Given the description of an element on the screen output the (x, y) to click on. 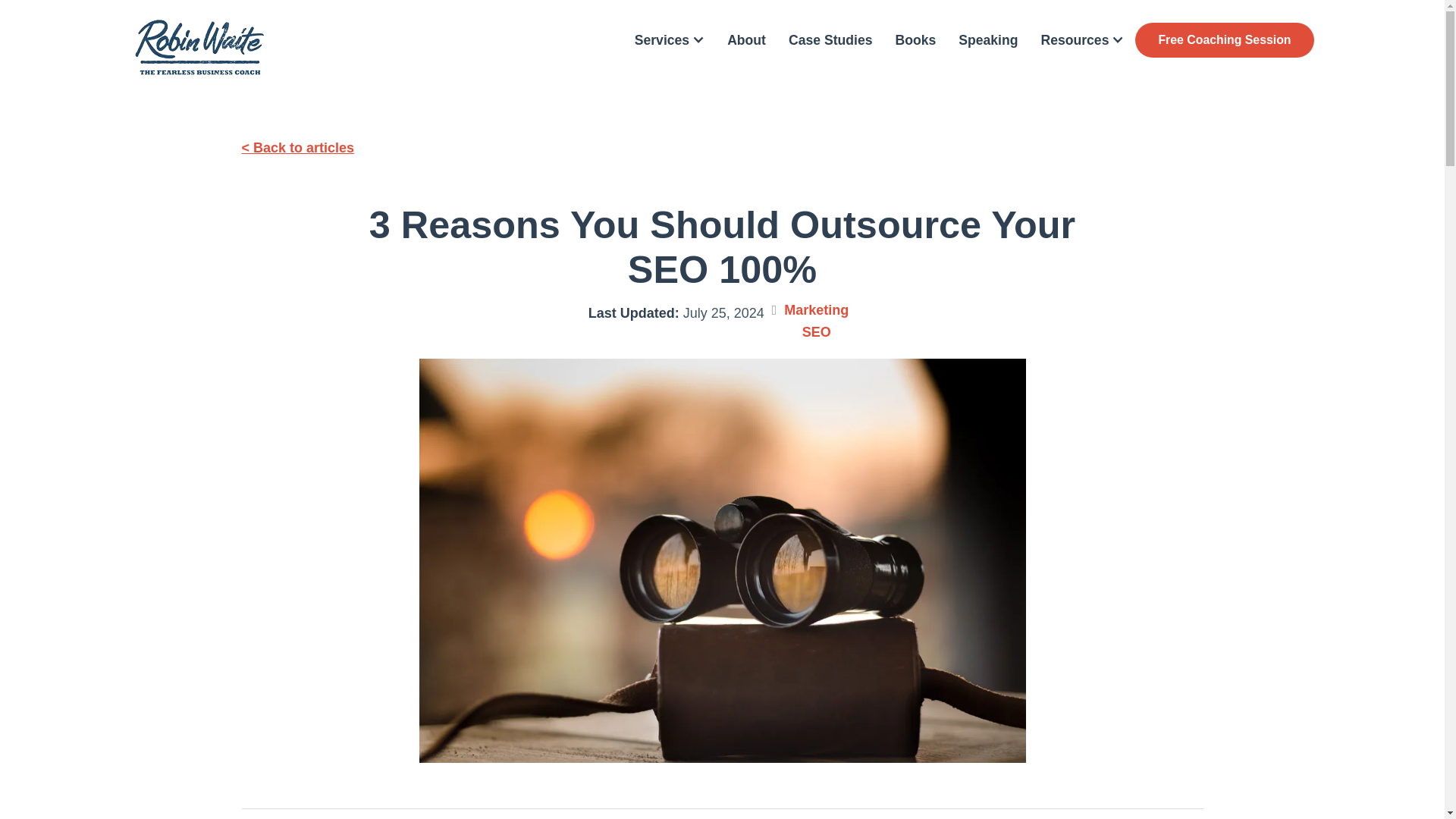
About (746, 39)
Case Studies (830, 39)
SEO (816, 331)
Speaking (987, 39)
Books (914, 39)
Marketing (816, 309)
Free Coaching Session (1224, 39)
